Given the description of an element on the screen output the (x, y) to click on. 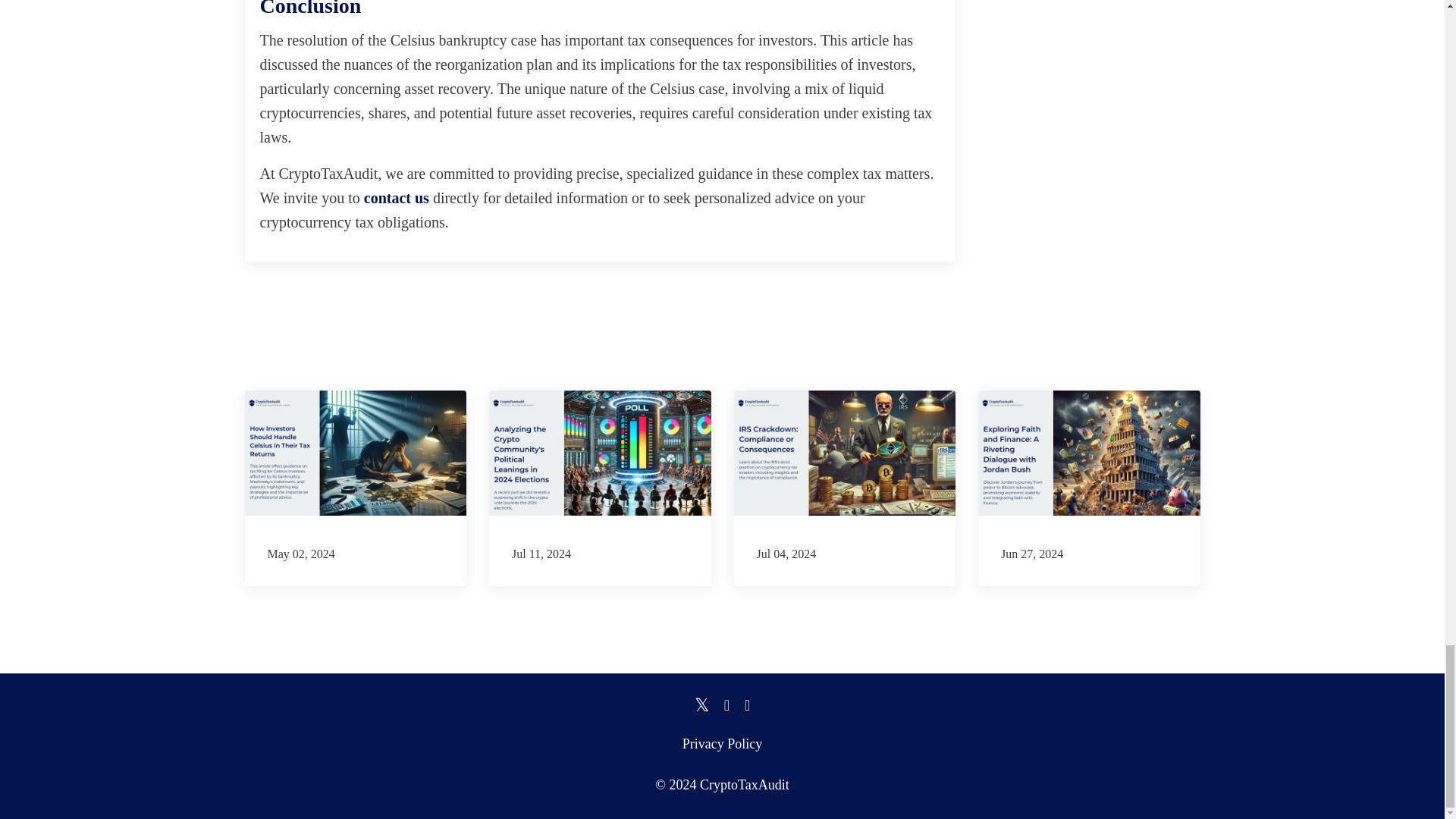
Jul 04, 2024 (844, 488)
Jul 11, 2024 (600, 488)
contact us (396, 197)
Jun 27, 2024 (1088, 488)
Expert Crypto Tax Consultation Services (396, 197)
Privacy Policy (722, 743)
May 02, 2024 (354, 488)
